Given the description of an element on the screen output the (x, y) to click on. 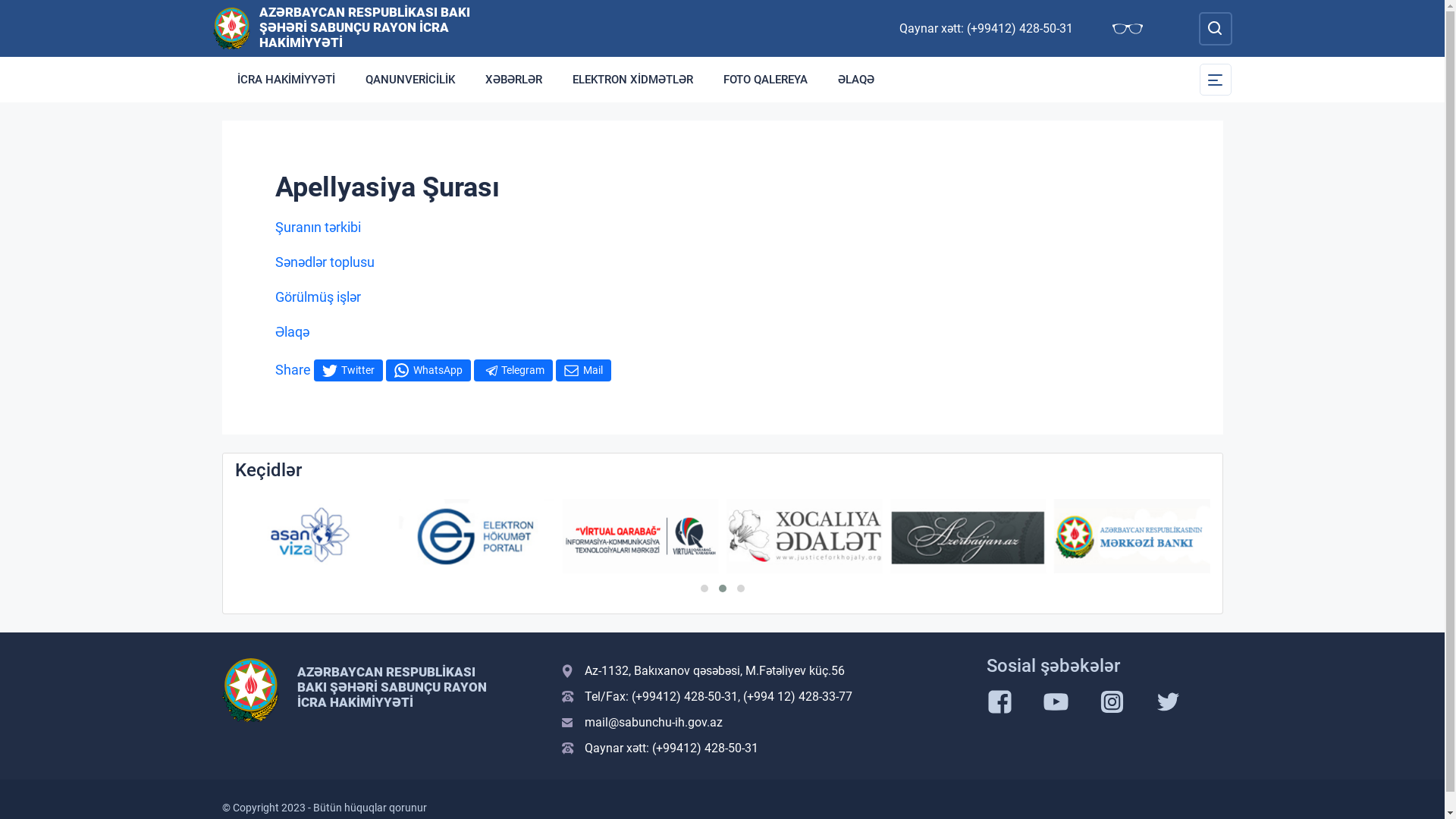
Mail Element type: text (582, 370)
Telegram Element type: text (512, 370)
QANUNVERICILIK Element type: text (410, 79)
WhatsApp Element type: text (427, 370)
FOTO QALEREYA Element type: text (765, 79)
Twitter Element type: text (347, 370)
Share Element type: text (292, 368)
mail@sabunchu-ih.gov.az Element type: text (764, 722)
Asan Viza Element type: hover (313, 535)
